Given the description of an element on the screen output the (x, y) to click on. 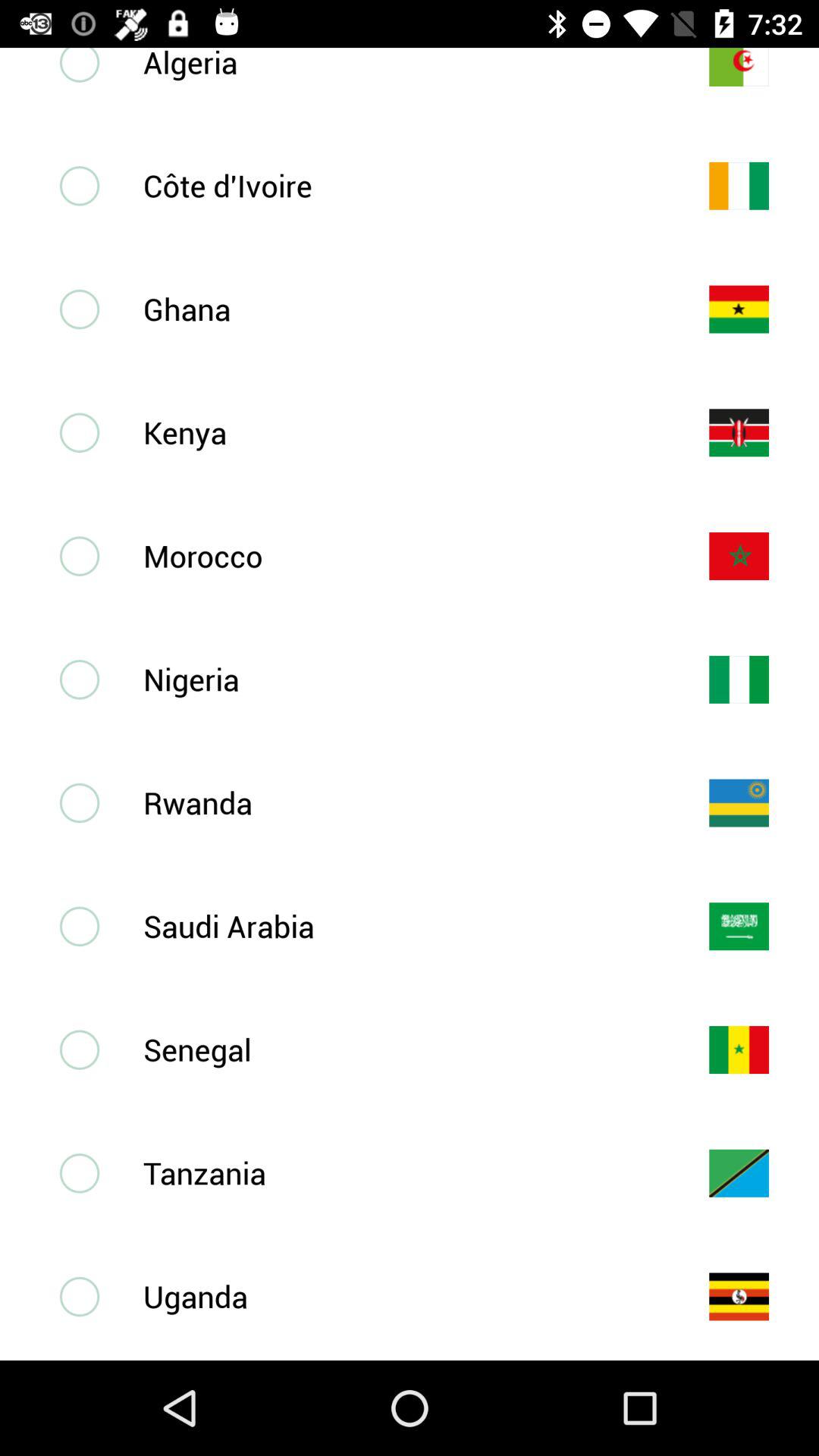
tap saudi arabia item (401, 926)
